Given the description of an element on the screen output the (x, y) to click on. 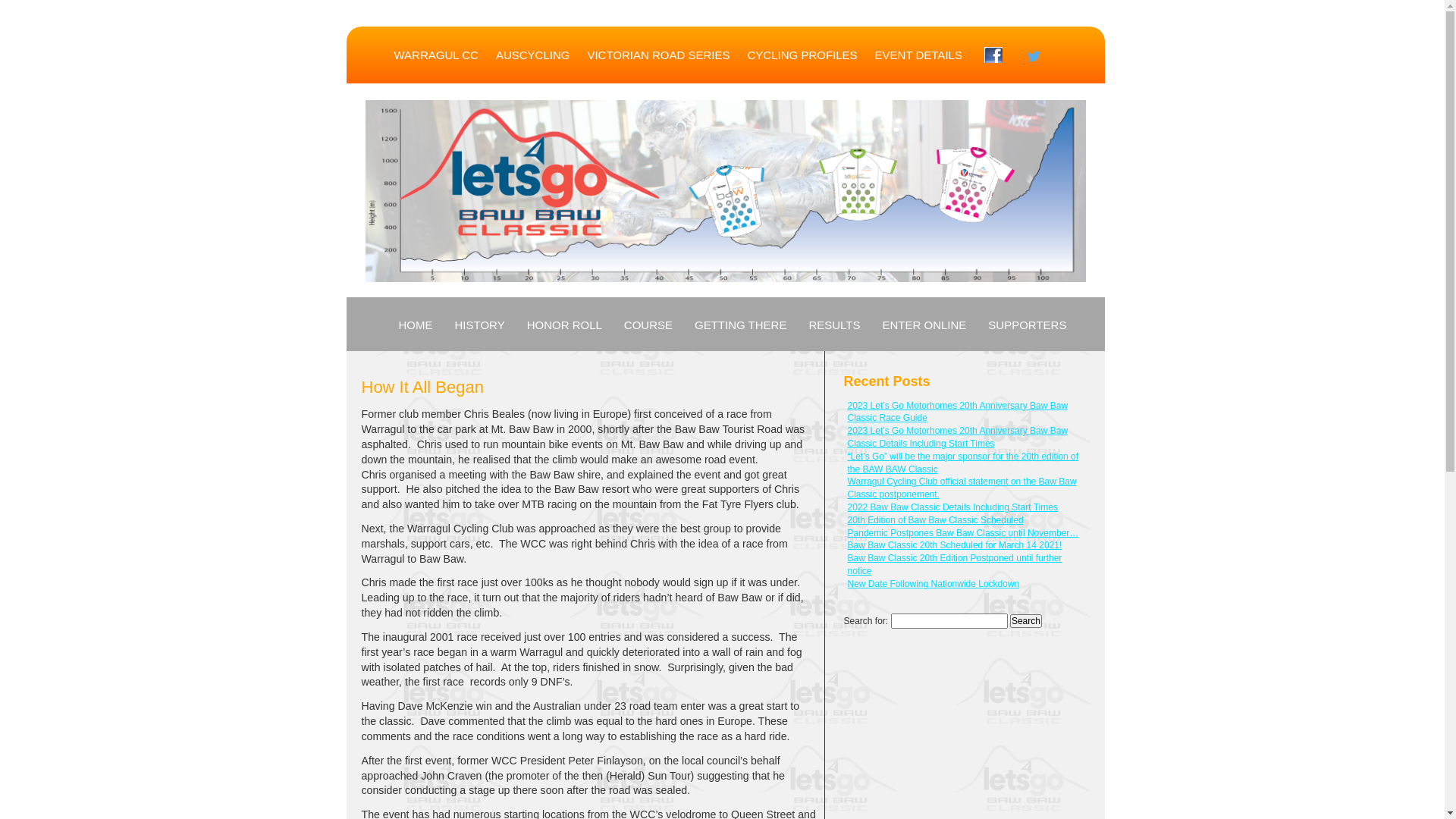
RESULTS Element type: text (833, 324)
VICTORIAN ROAD SERIES Element type: text (657, 54)
Baw Baw Classic 20th Edition Postponed until further notice Element type: text (954, 564)
ENTER ONLINE Element type: text (924, 324)
20th Edition of Baw Baw Classic Scheduled Element type: text (935, 519)
COURSE Element type: text (648, 324)
TWITTER Element type: text (1033, 56)
Search Element type: text (1025, 620)
HISTORY Element type: text (480, 324)
HOME Element type: text (415, 324)
EVENT DETAILS Element type: text (918, 54)
SUPPORTERS Element type: text (1027, 324)
GETTING THERE Element type: text (740, 324)
New Date Following Nationwide Lockdown Element type: text (933, 583)
2022 Baw Baw Classic Details Including Start Times Element type: text (952, 507)
WARRAGUL CC Element type: text (436, 54)
FACEBOOK Element type: text (993, 54)
Baw Baw Classic 20th Scheduled for March 14 2021! Element type: text (954, 544)
AUSCYCLING Element type: text (532, 54)
CYCLING PROFILES Element type: text (802, 54)
HONOR ROLL Element type: text (564, 324)
